Given the description of an element on the screen output the (x, y) to click on. 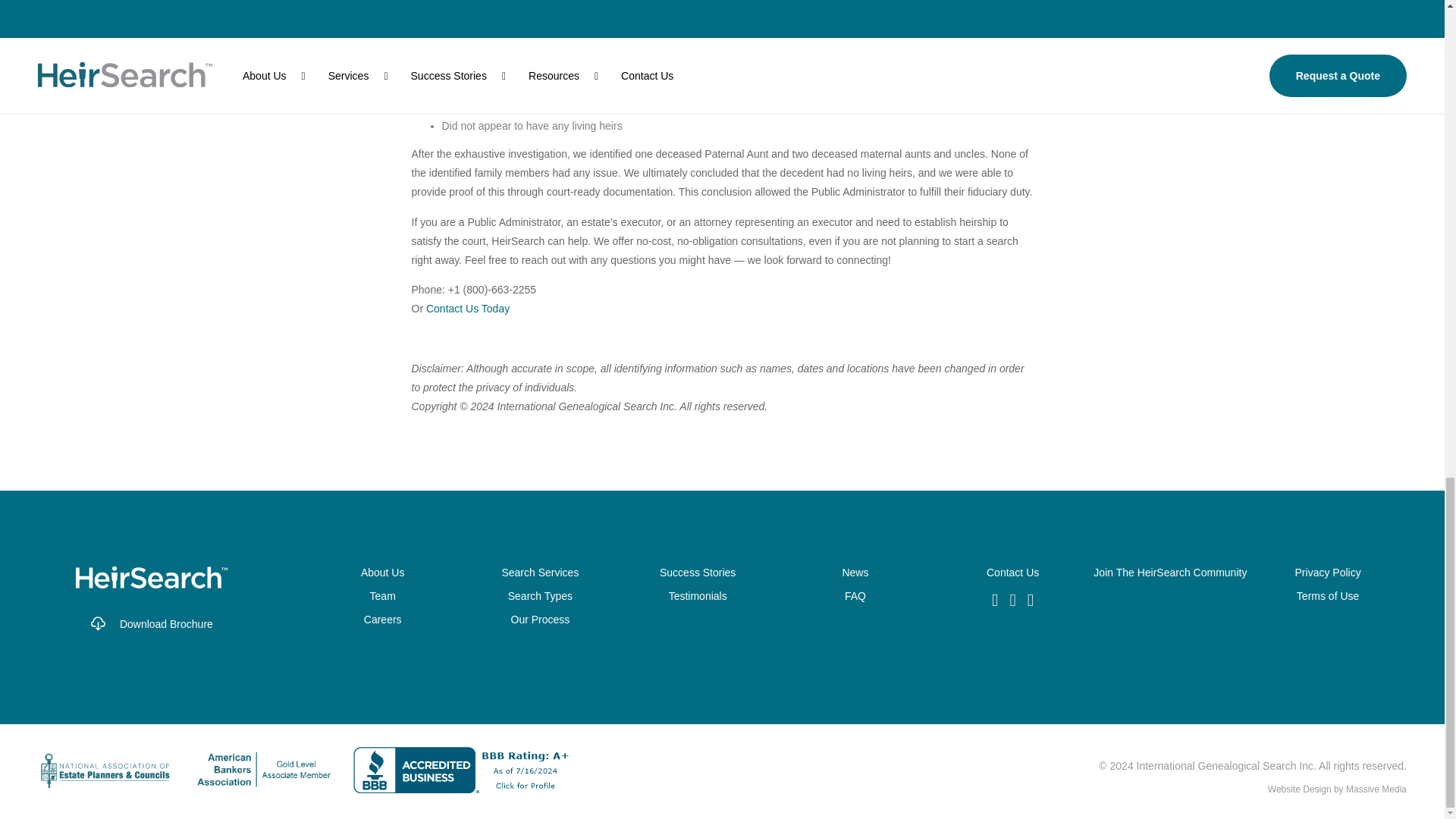
Team (382, 595)
Our Process (540, 619)
About Us (382, 572)
Testimonials (697, 595)
Search Types (540, 595)
Careers (382, 619)
Success Stories (697, 572)
Download Brochure (151, 621)
Contact Us Today (467, 308)
Search Services (540, 572)
